Given the description of an element on the screen output the (x, y) to click on. 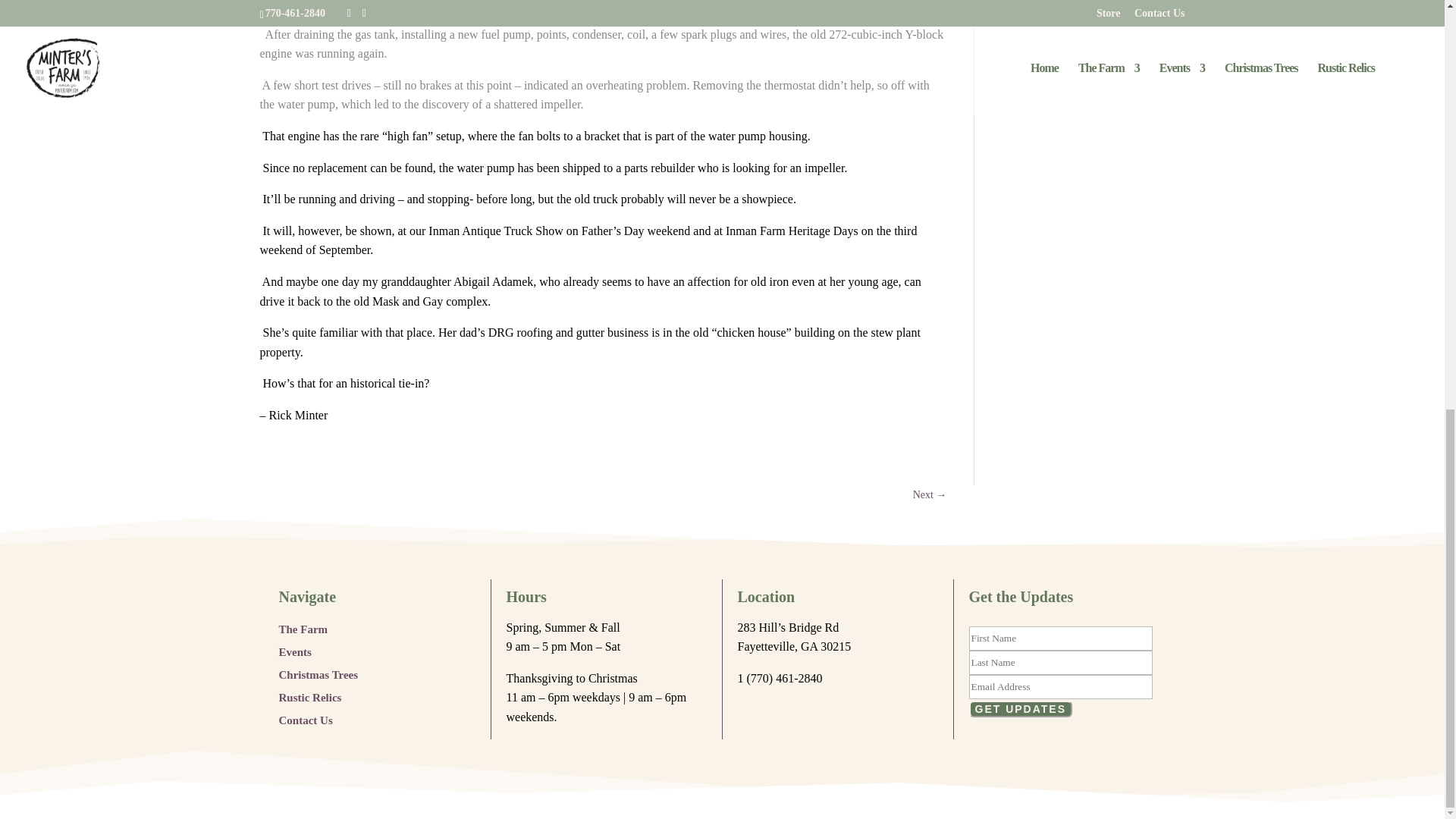
Rustic Relics (310, 694)
The Farm (304, 626)
Christmas Trees (318, 671)
Contact Us (306, 717)
Events (295, 648)
Get Updates (1021, 709)
